Given the description of an element on the screen output the (x, y) to click on. 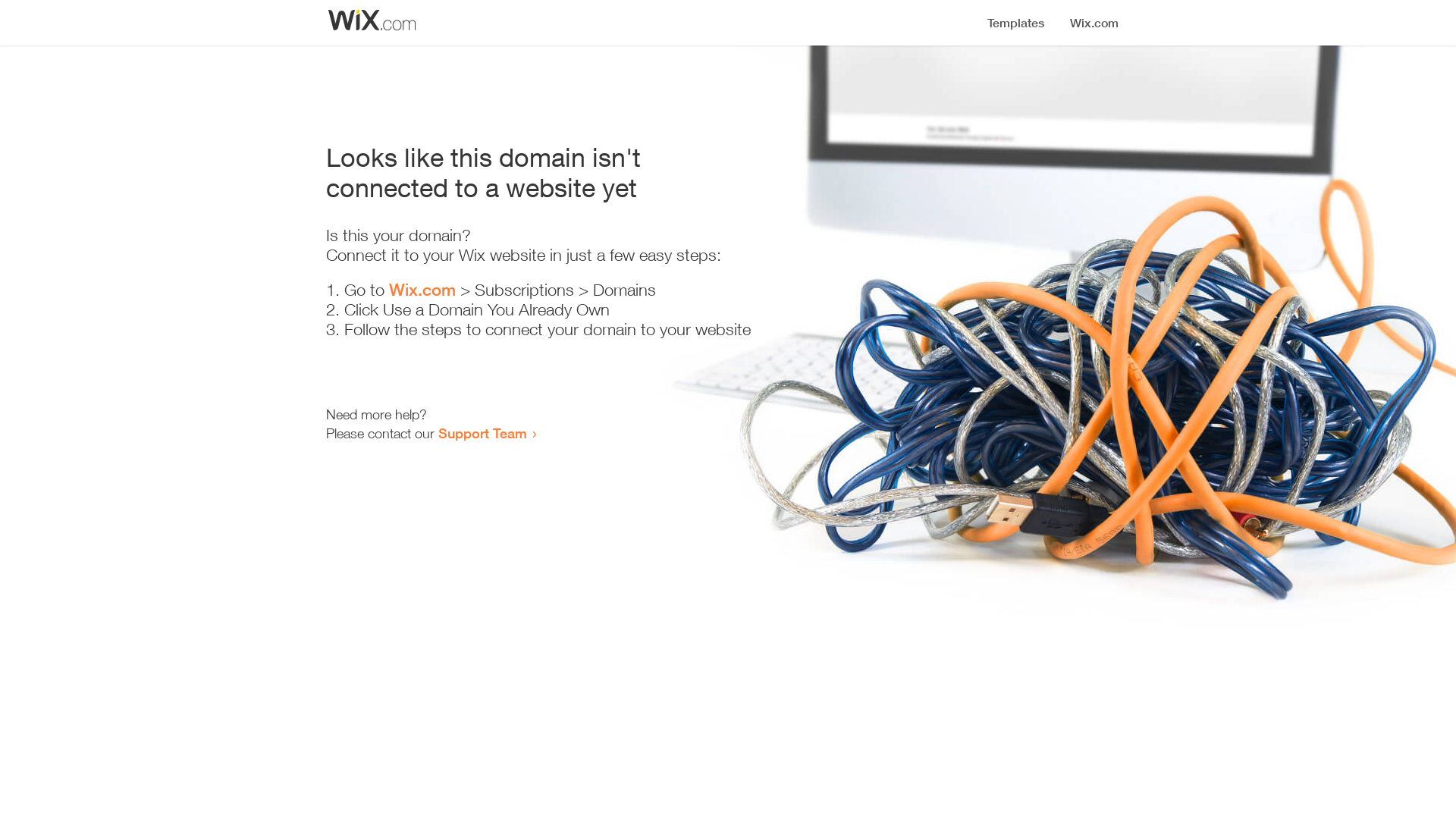
Support Team Element type: text (482, 432)
Wix.com Element type: text (422, 289)
